Given the description of an element on the screen output the (x, y) to click on. 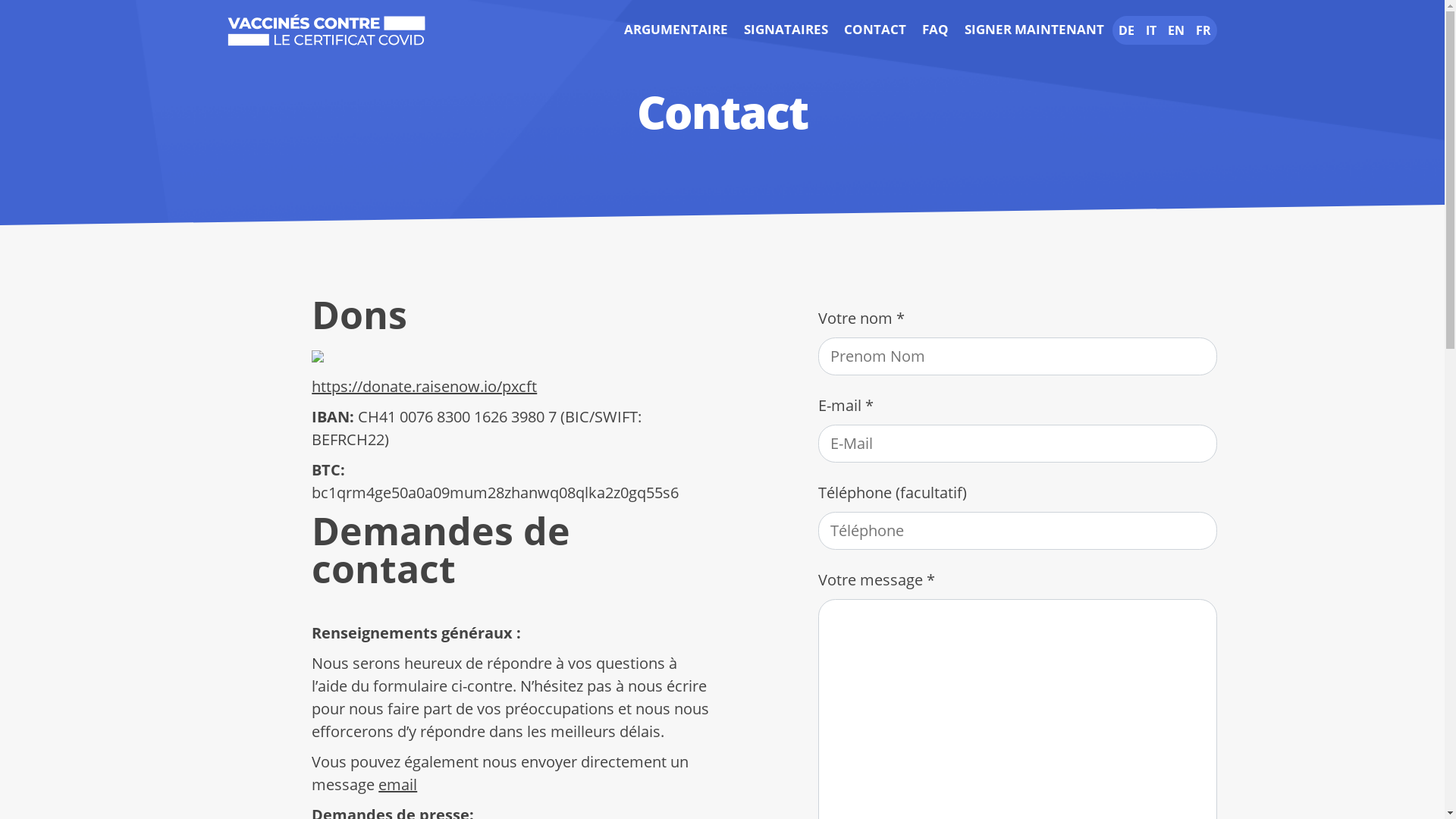
https://donate.raisenow.io/pxcft Element type: text (423, 386)
EN Element type: text (1175, 29)
SIGNER MAINTENANT Element type: text (1034, 29)
SIGNATAIRES Element type: text (785, 29)
IT Element type: text (1150, 29)
FR Element type: text (1203, 29)
FAQ Element type: text (935, 29)
ARGUMENTAIRE Element type: text (675, 29)
DE Element type: text (1126, 29)
CONTACT Element type: text (874, 29)
email Element type: text (397, 784)
